Given the description of an element on the screen output the (x, y) to click on. 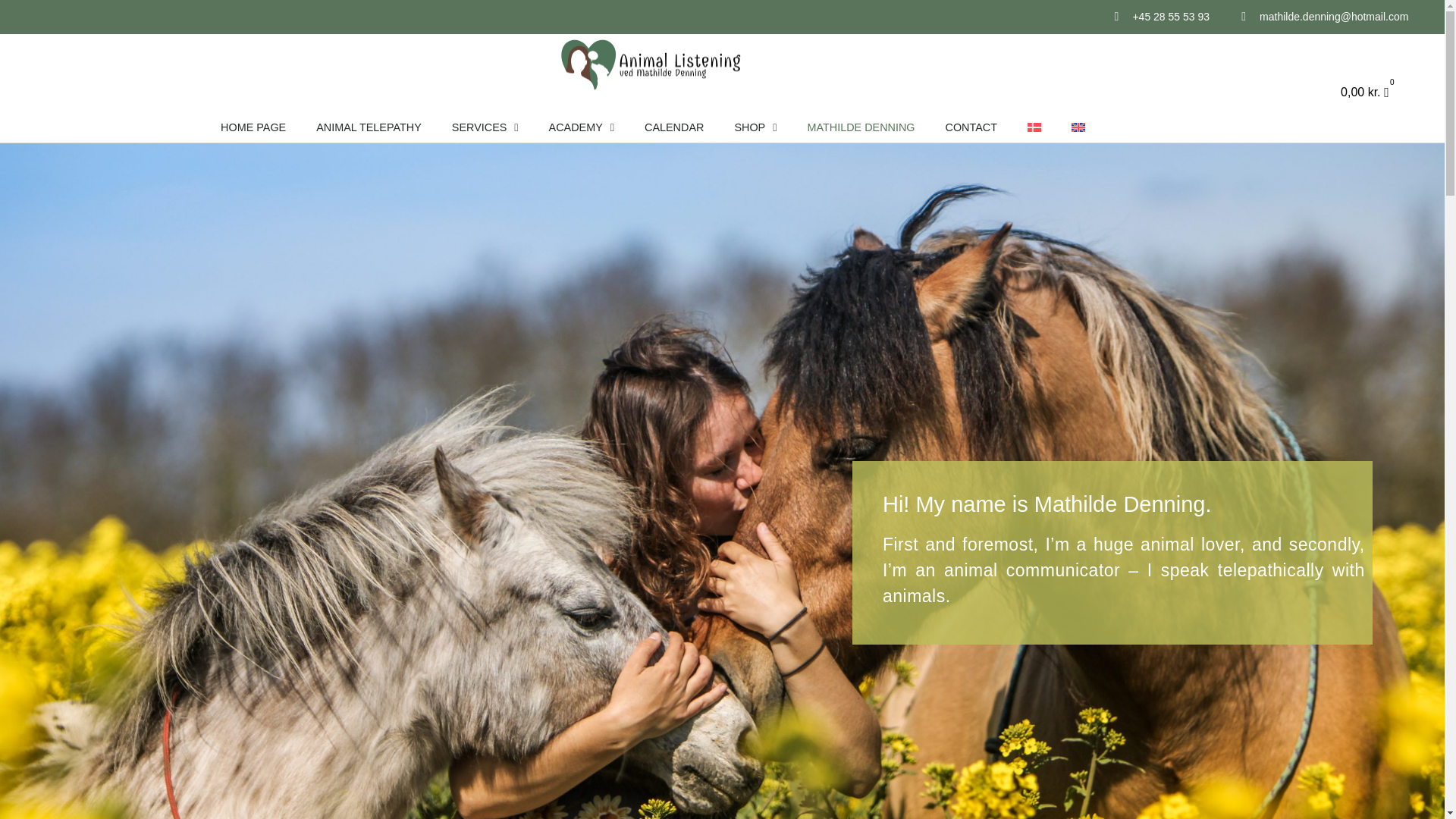
CONTACT (970, 127)
CALENDAR (673, 127)
ACADEMY (581, 127)
MATHILDE DENNING (861, 127)
SERVICES (485, 127)
ANIMAL TELEPATHY (368, 127)
SHOP (755, 127)
HOME PAGE (253, 127)
